Given the description of an element on the screen output the (x, y) to click on. 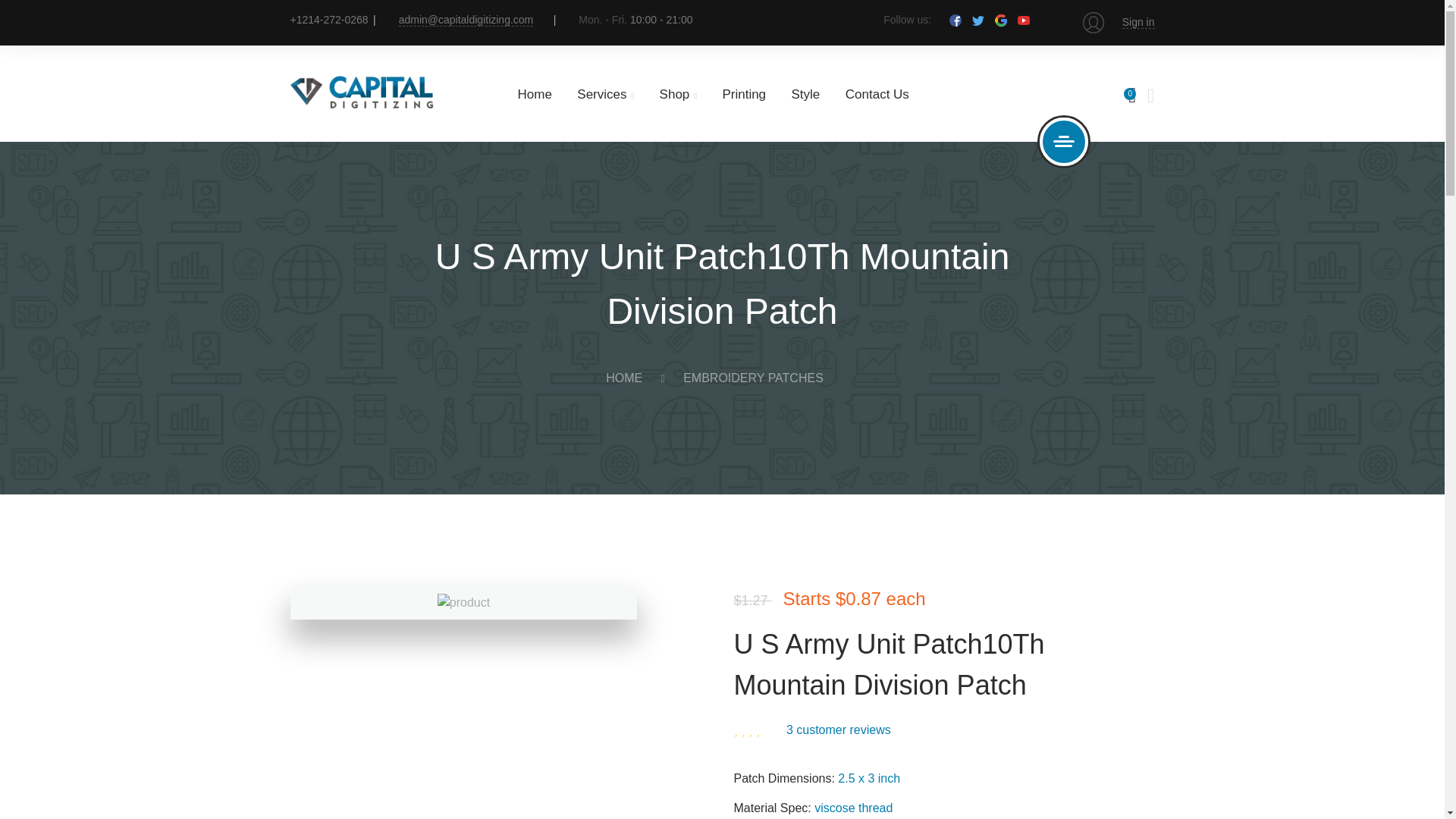
Style (806, 93)
Home (533, 93)
Sign in (1138, 21)
Printing (743, 93)
Contact Us (876, 93)
